Given the description of an element on the screen output the (x, y) to click on. 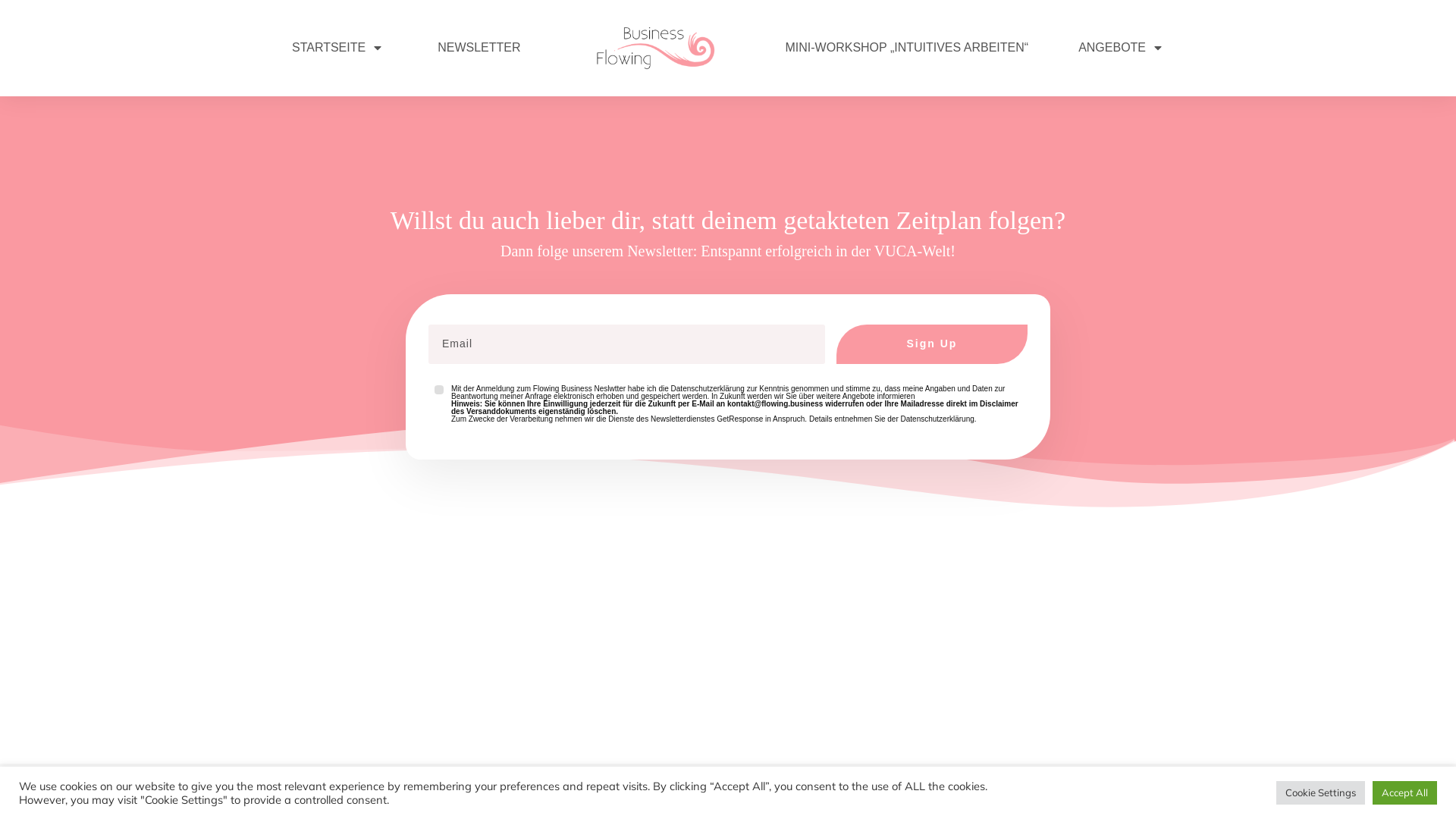
Cookie Settings Element type: text (1320, 792)
Sign Up Element type: text (931, 343)
Accept All Element type: text (1404, 792)
STARTSEITE Element type: text (337, 47)
Imprint Element type: text (971, 788)
Privacy Policy Element type: text (878, 788)
ANGEBOTE Element type: text (1121, 47)
NEWSLETTER Element type: text (478, 47)
